Given the description of an element on the screen output the (x, y) to click on. 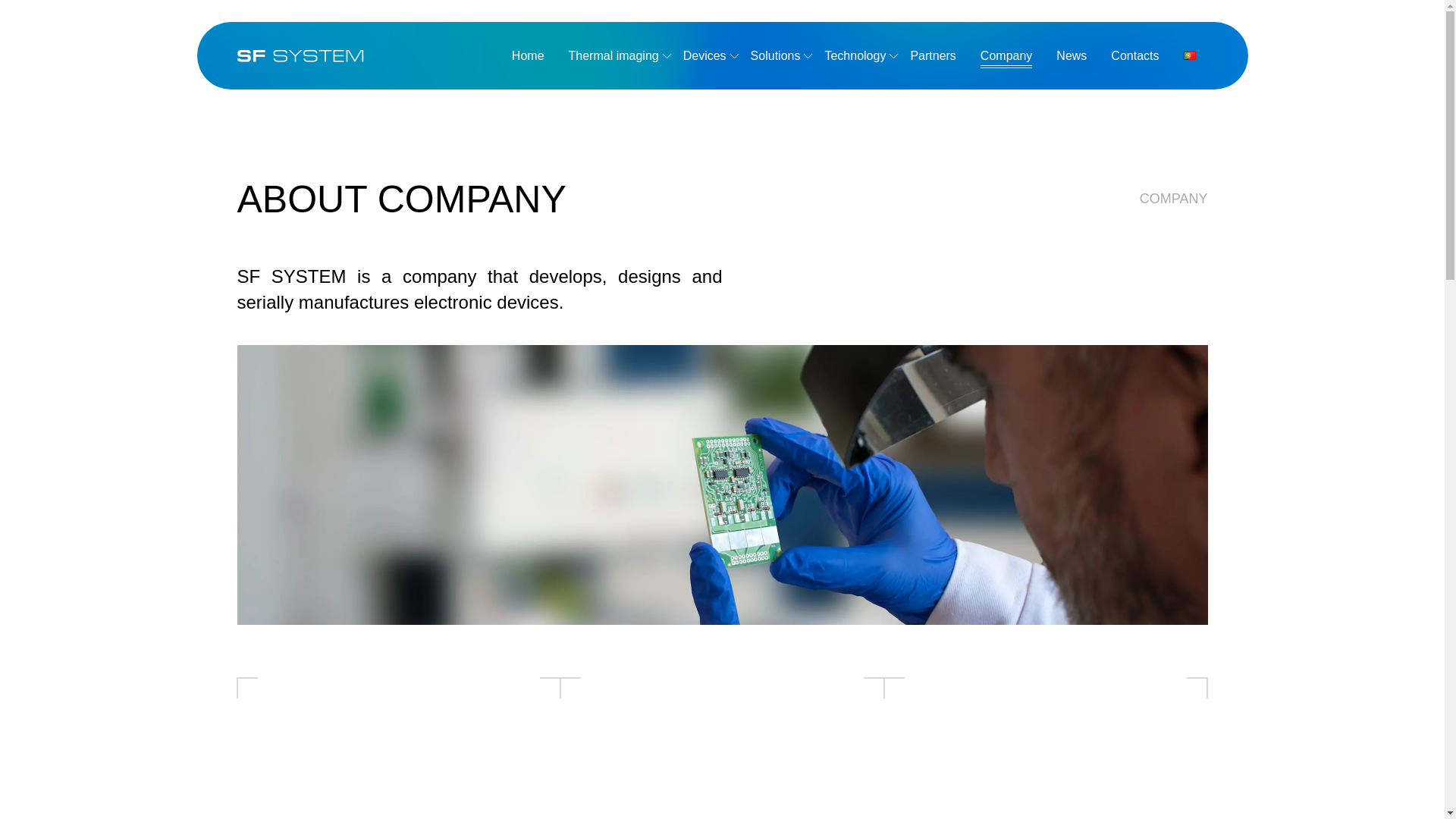
Home (528, 55)
